Given the description of an element on the screen output the (x, y) to click on. 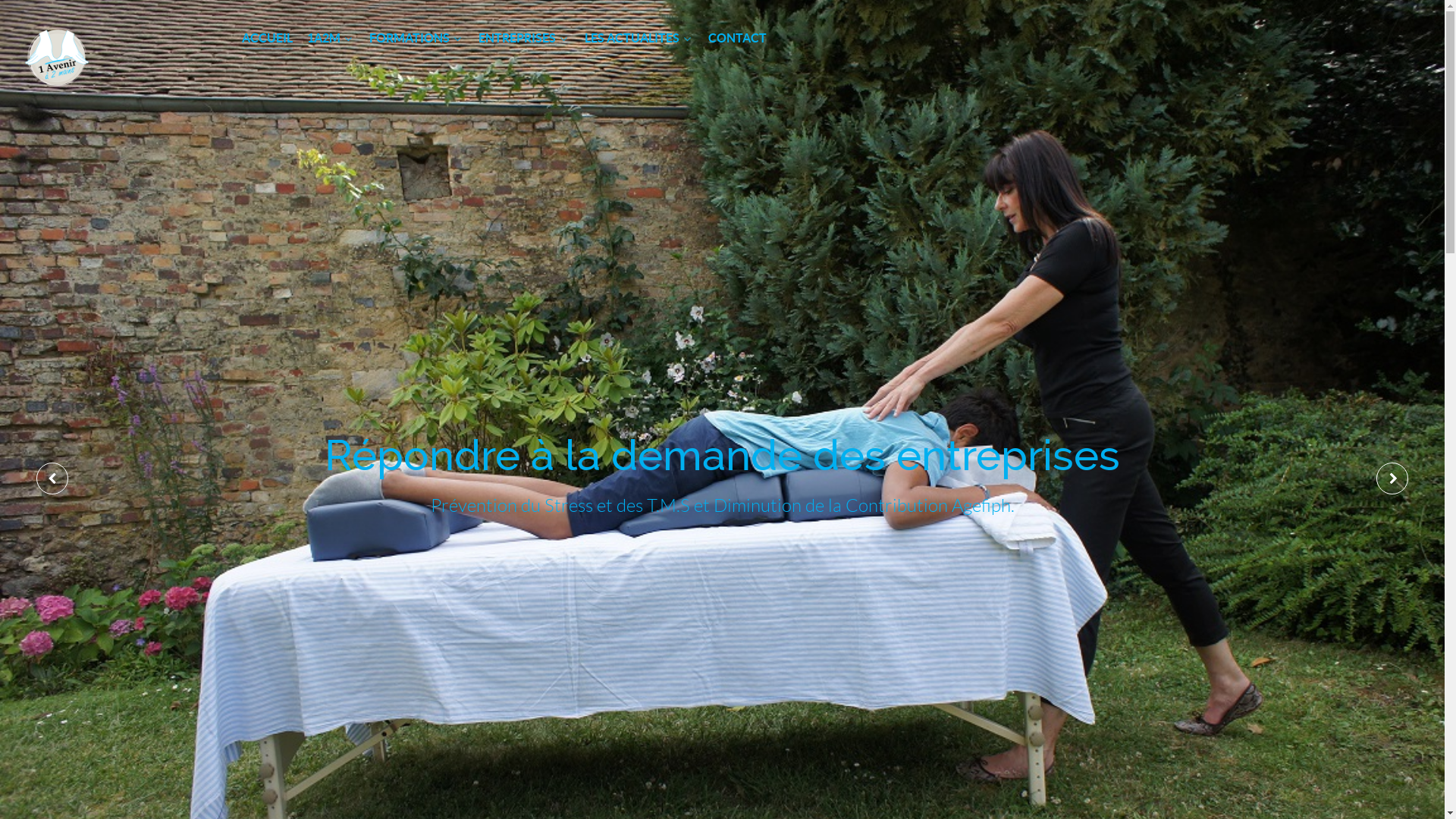
ACCUEIL Element type: text (266, 39)
LES ACTUALITES Element type: text (638, 39)
1A2M Element type: text (330, 39)
CONTACT Element type: text (737, 39)
ENTREPRISES Element type: text (524, 39)
FORMATIONS Element type: text (416, 39)
1A2M Element type: hover (107, 56)
